Given the description of an element on the screen output the (x, y) to click on. 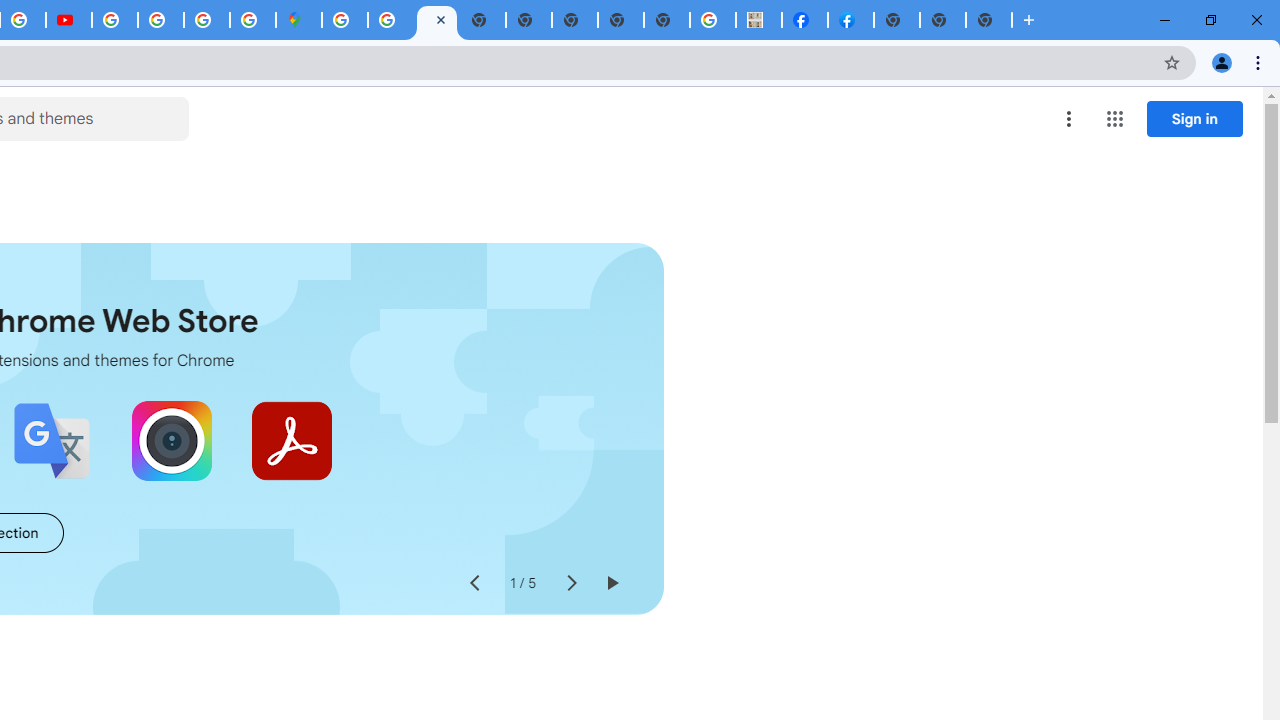
Miley Cyrus | Facebook (805, 20)
